Given the description of an element on the screen output the (x, y) to click on. 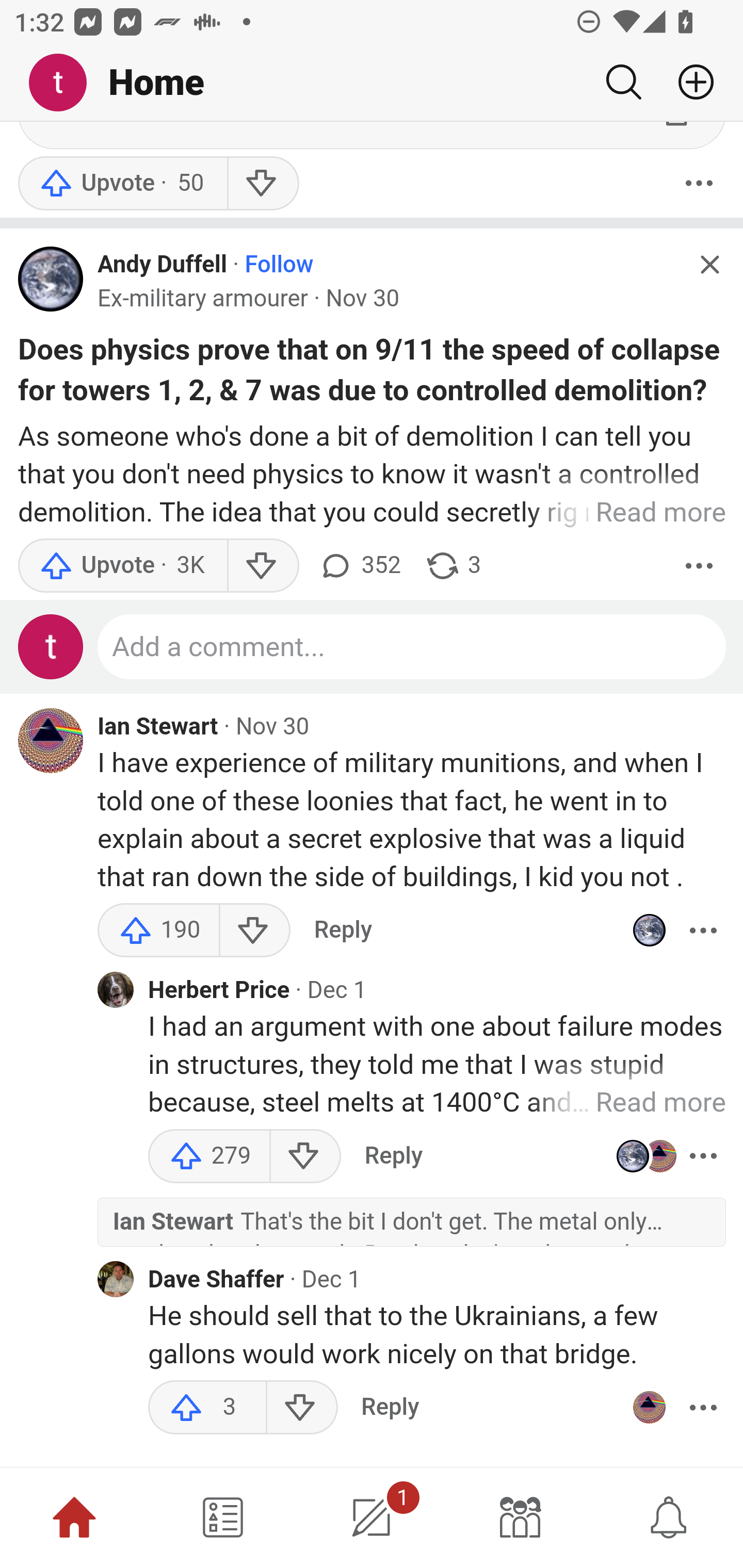
Me (64, 83)
Search (623, 82)
Add (688, 82)
Upvote (122, 184)
Downvote (262, 184)
More (699, 184)
Hide (709, 267)
Profile photo for Andy Duffell (50, 280)
Andy Duffell (162, 266)
Follow (278, 266)
Upvote (122, 566)
Downvote (262, 566)
352 comments (359, 566)
3 shares (452, 566)
More (699, 566)
Profile photo for Test Appium (50, 648)
Add a comment... (412, 648)
Profile photo for Ian Stewart (50, 742)
Ian Stewart (157, 728)
190 upvotes (158, 932)
Downvote (253, 932)
Reply (342, 932)
Profile photo for Andy Duffell (648, 932)
More (703, 932)
Profile photo for Herbert Price (115, 991)
Herbert Price (218, 992)
279 upvotes (209, 1156)
Downvote (304, 1156)
Reply (393, 1156)
More (703, 1156)
Profile photo for Dave Shaffer (115, 1280)
Dave Shaffer (216, 1280)
3 upvotes (207, 1409)
Downvote (302, 1409)
Reply (389, 1409)
Profile photo for Ian Stewart (648, 1409)
More (703, 1409)
1 (371, 1517)
